Given the description of an element on the screen output the (x, y) to click on. 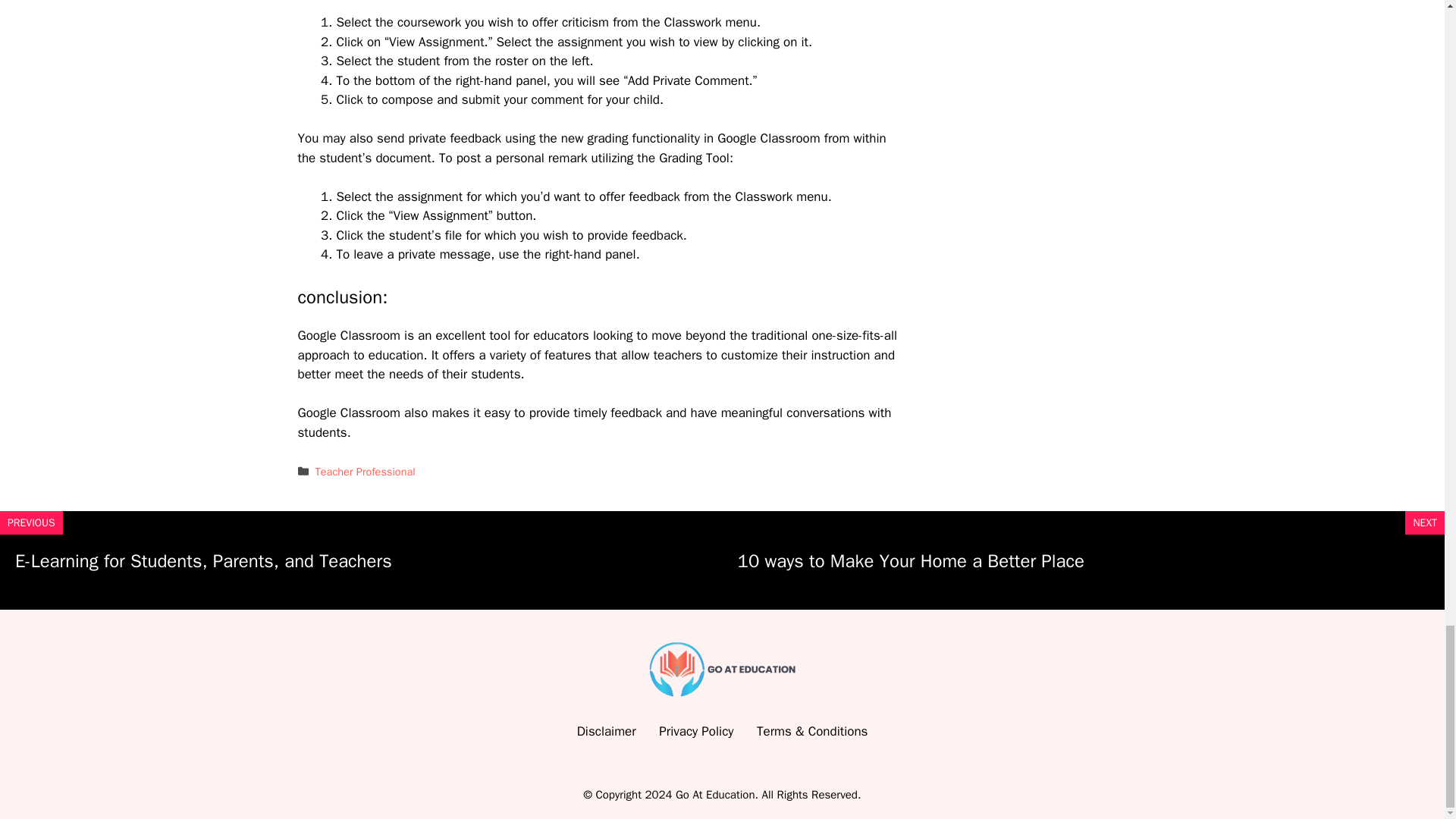
E-Learning for Students, Parents, and Teachers (202, 560)
Privacy Policy (696, 731)
Go-At-Education (722, 668)
10 ways to Make Your Home a Better Place (909, 560)
Disclaimer (606, 731)
Teacher Professional (364, 471)
